Given the description of an element on the screen output the (x, y) to click on. 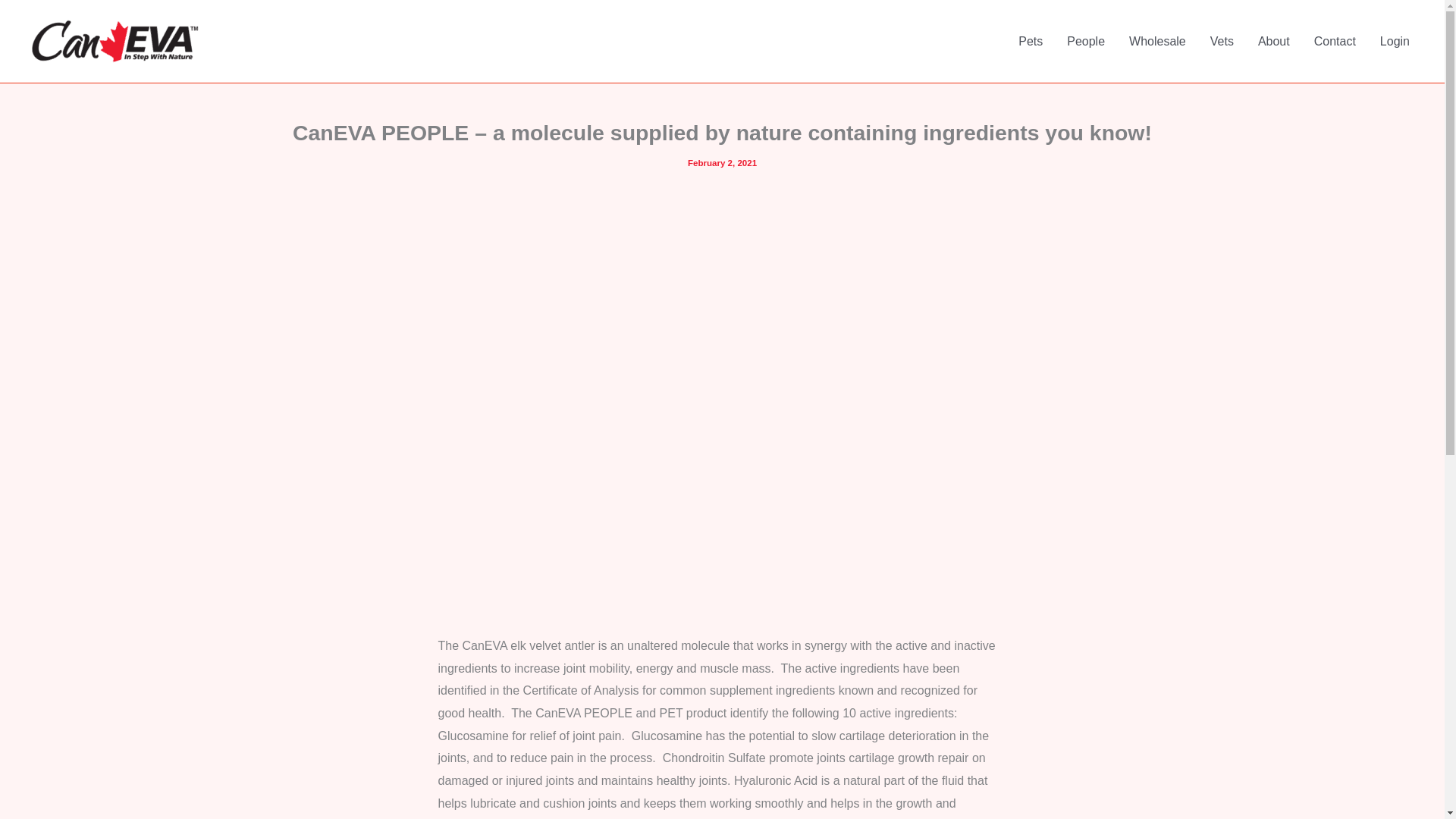
Wholesale (1157, 40)
Contact (1334, 40)
People (1085, 40)
About (1273, 40)
